Given the description of an element on the screen output the (x, y) to click on. 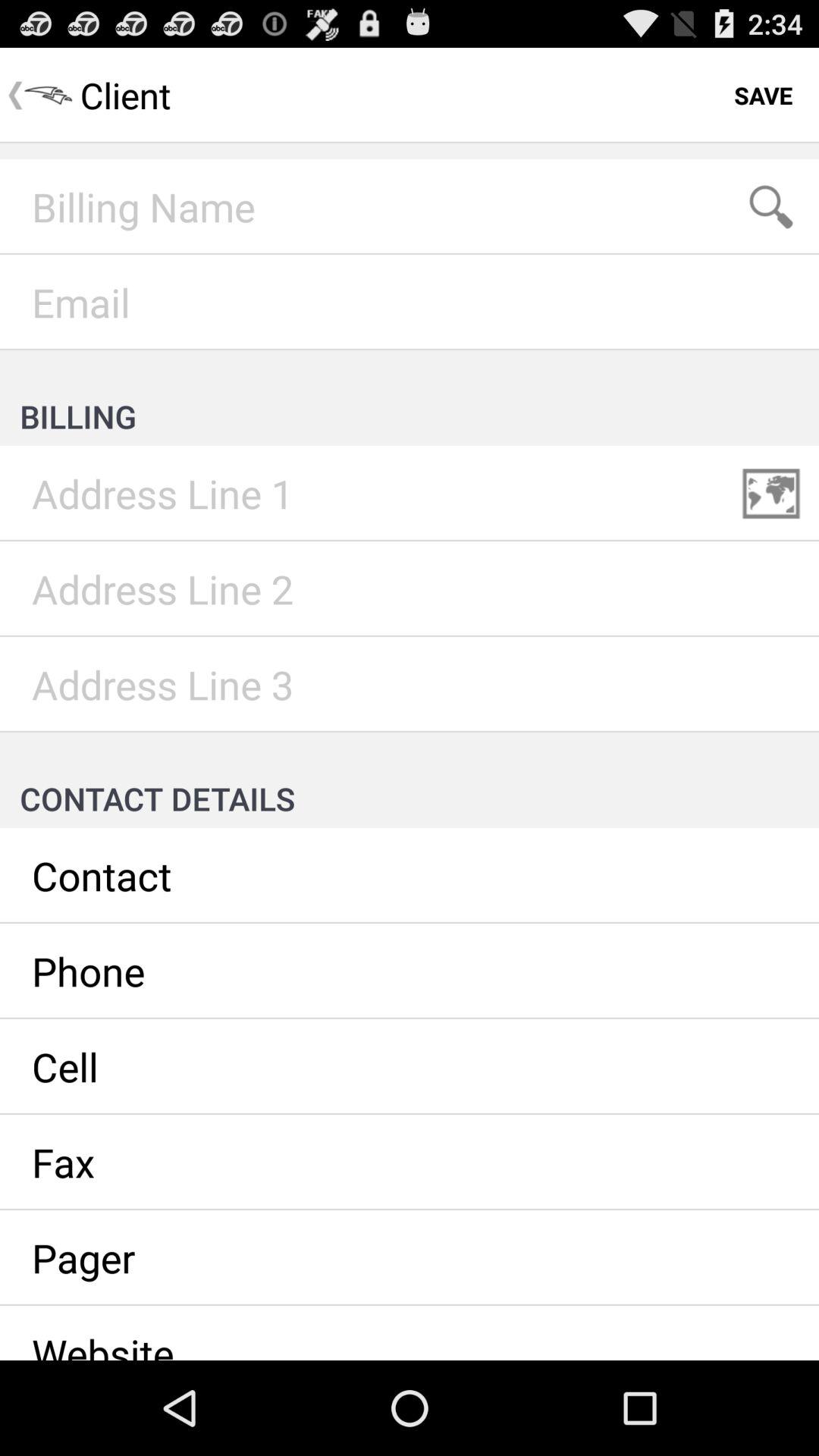
fax (409, 1162)
